Given the description of an element on the screen output the (x, y) to click on. 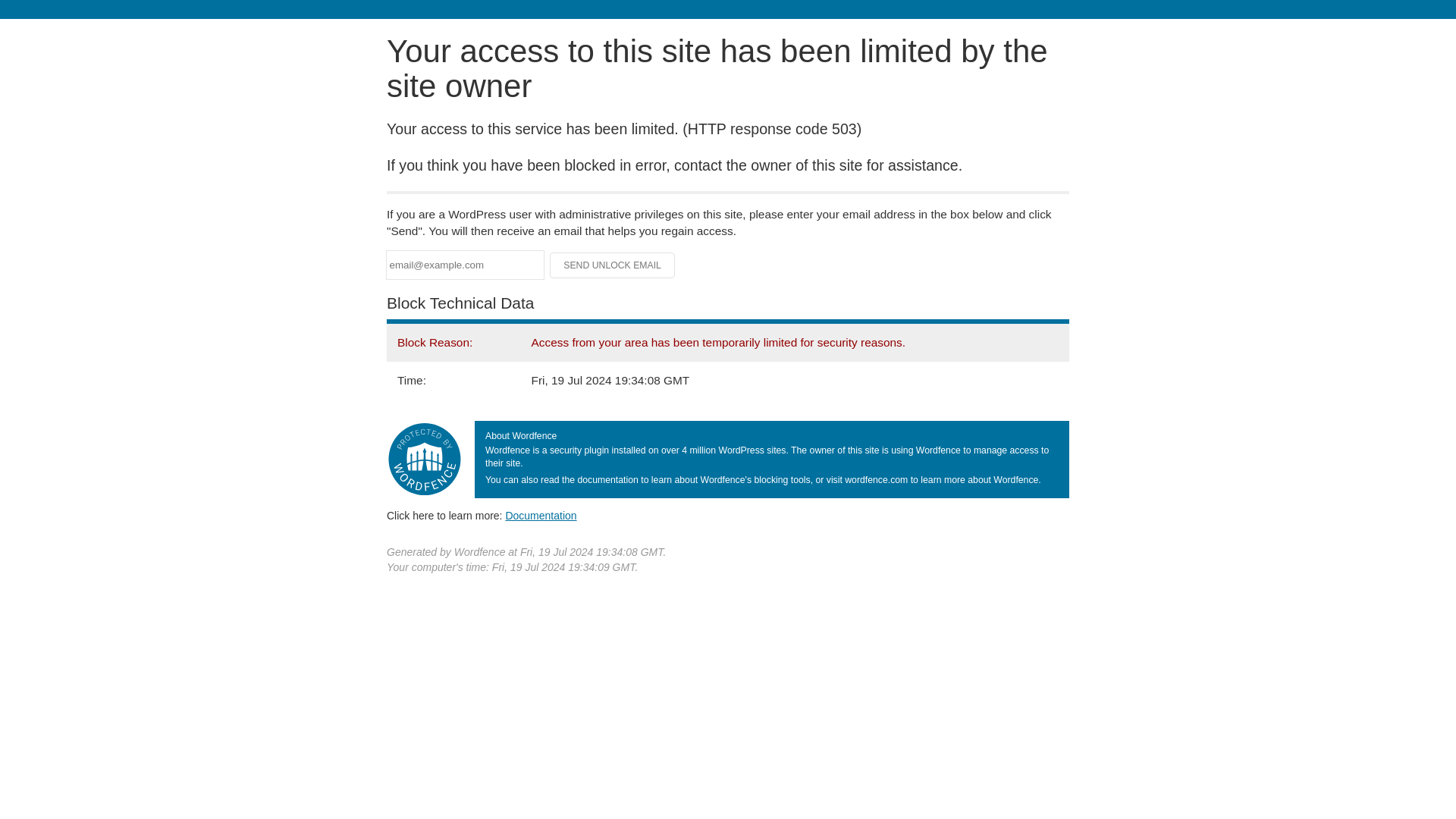
Documentation (540, 515)
Send Unlock Email (612, 265)
Send Unlock Email (612, 265)
